Given the description of an element on the screen output the (x, y) to click on. 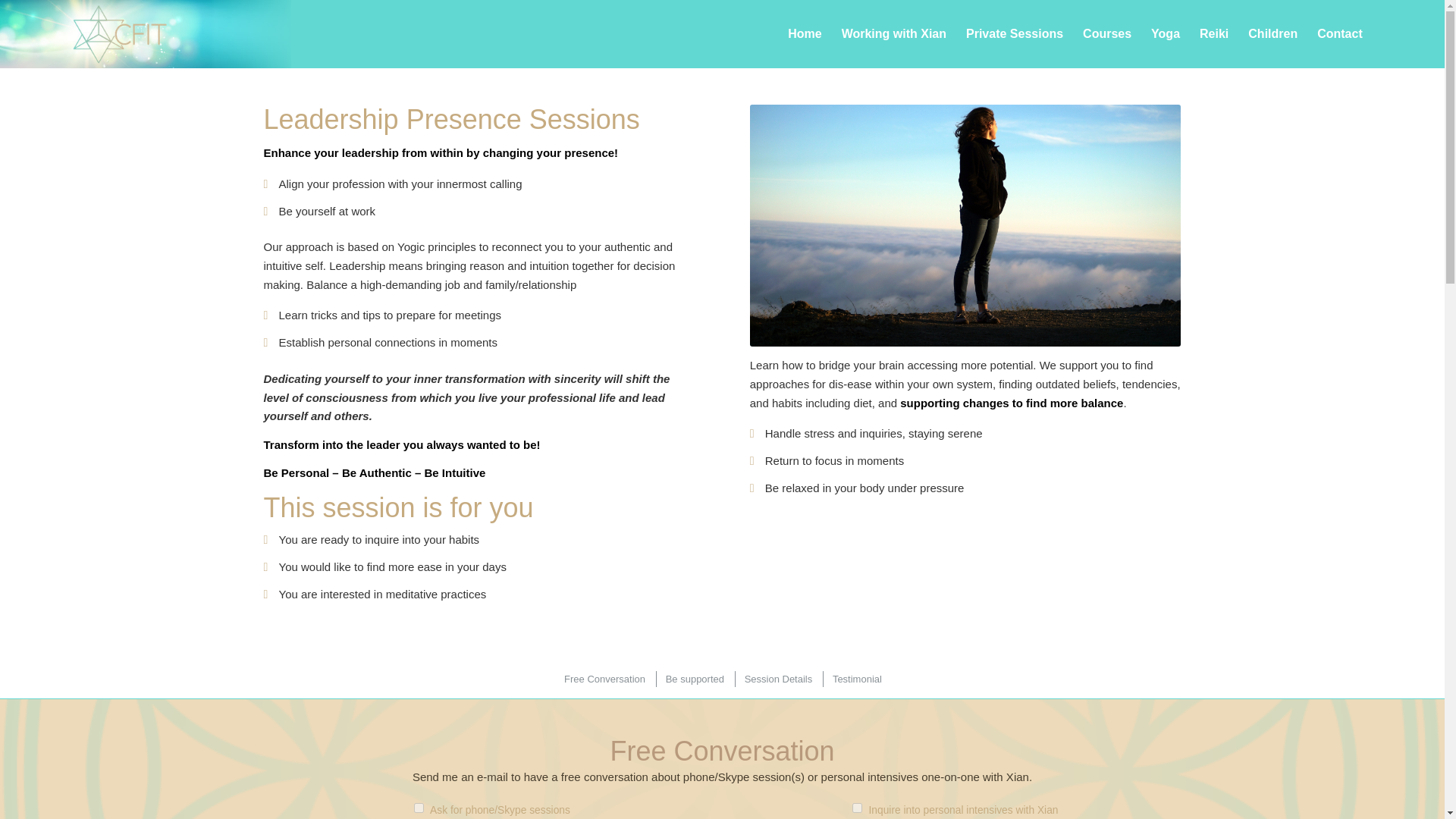
Contact (1340, 33)
Working with Xian (893, 33)
Free Conversation (603, 678)
Private Sessions (1014, 33)
Children (1273, 33)
true (856, 808)
Testimonial (855, 678)
Session Details (778, 678)
true (418, 808)
woman-1209866 full size (964, 225)
Courses (1107, 33)
logo (145, 33)
Be supported (694, 678)
